Given the description of an element on the screen output the (x, y) to click on. 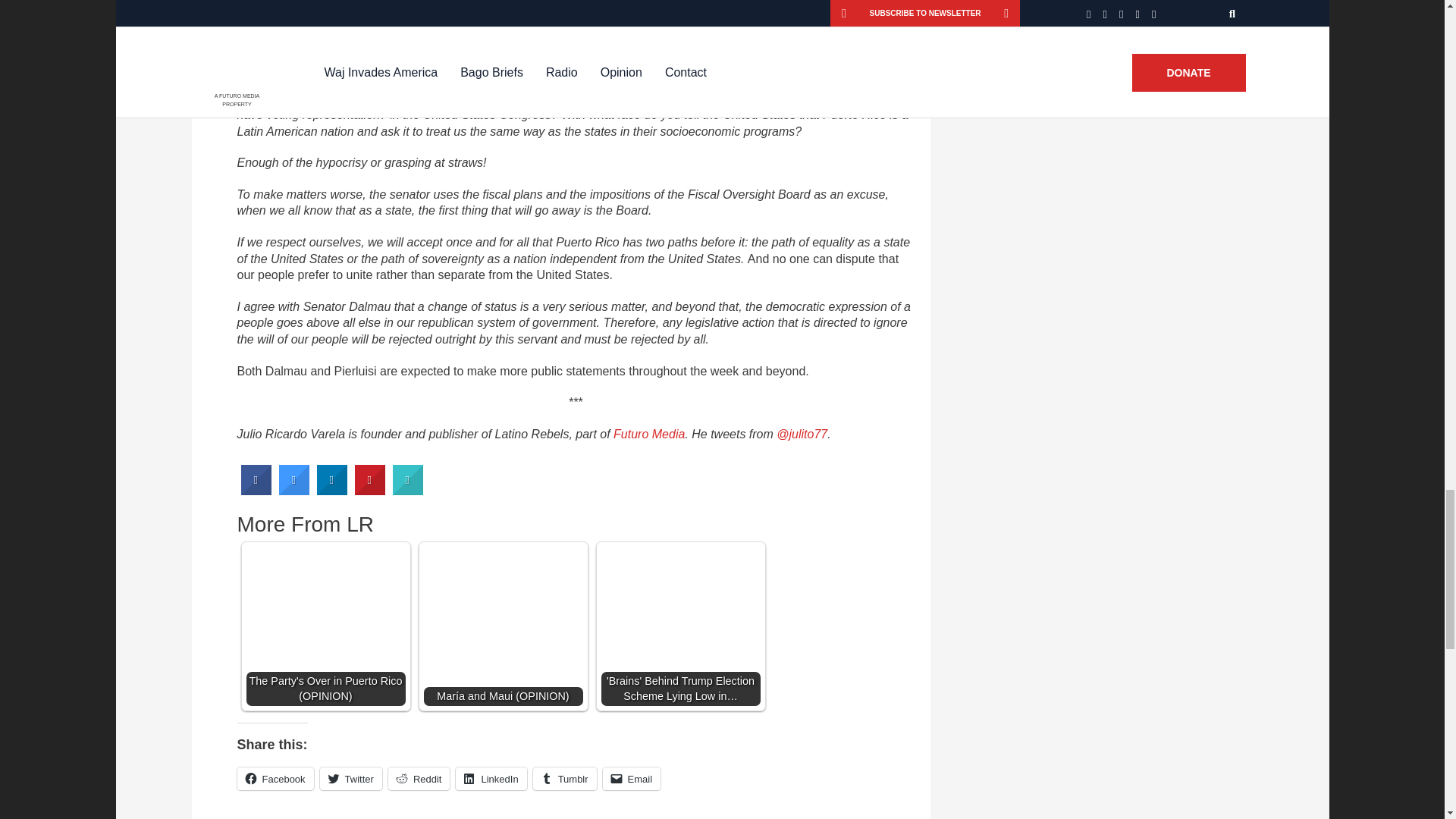
Share to LinkedIn (332, 490)
Click to share on Facebook (274, 778)
Share on Pinterest (370, 490)
Facebook (274, 778)
Click to email a link to a friend (631, 778)
Share on Twitter (293, 490)
Click to share on Twitter (350, 778)
Click to share on Reddit (418, 778)
Print this page (408, 490)
Share on Facebook (255, 490)
Click to share on Tumblr (564, 778)
Futuro Media (648, 433)
Click to share on LinkedIn (490, 778)
Twitter (350, 778)
